Given the description of an element on the screen output the (x, y) to click on. 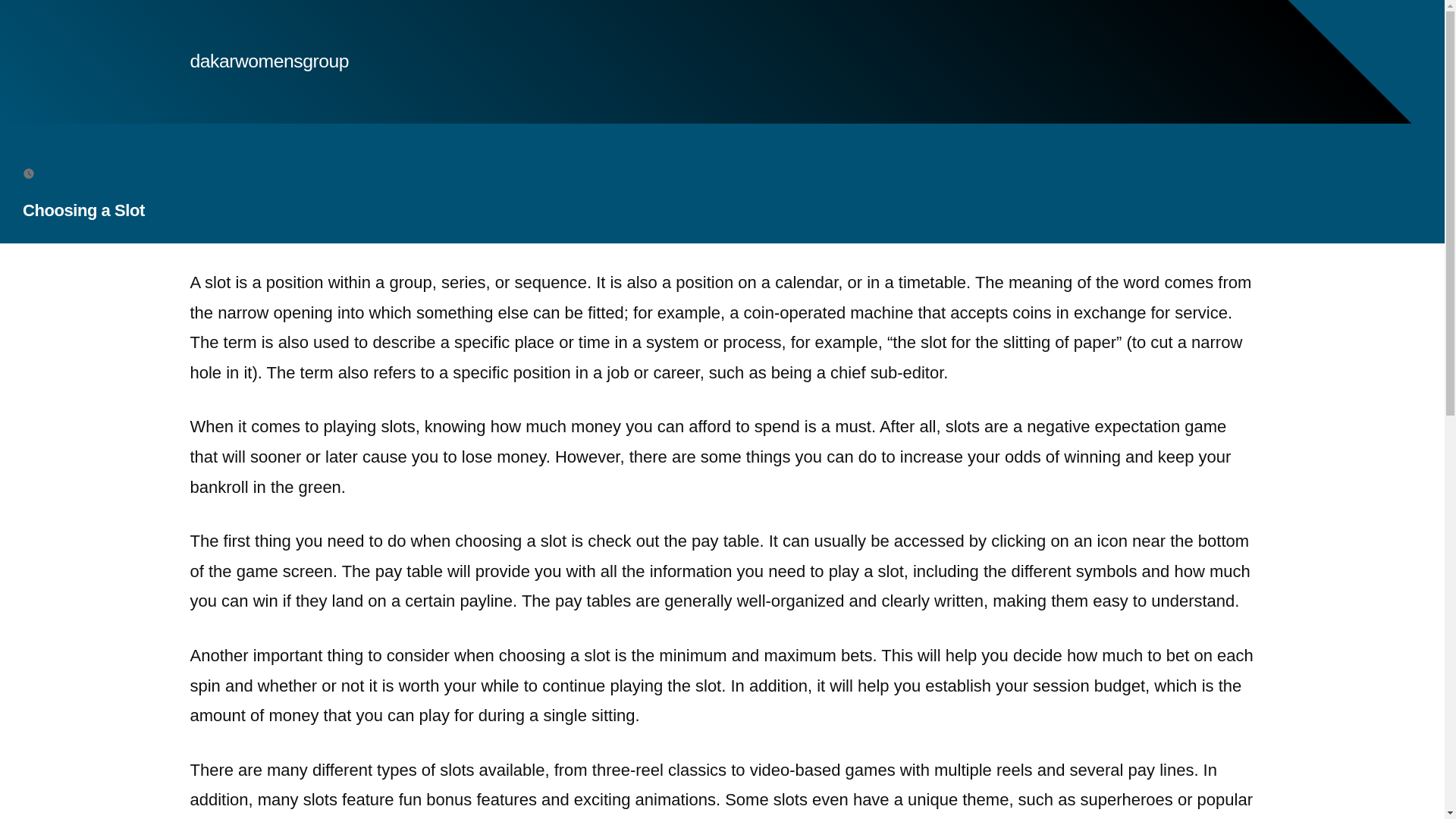
dakarwomensgroup (268, 60)
September 19, 2023 (94, 173)
